Given the description of an element on the screen output the (x, y) to click on. 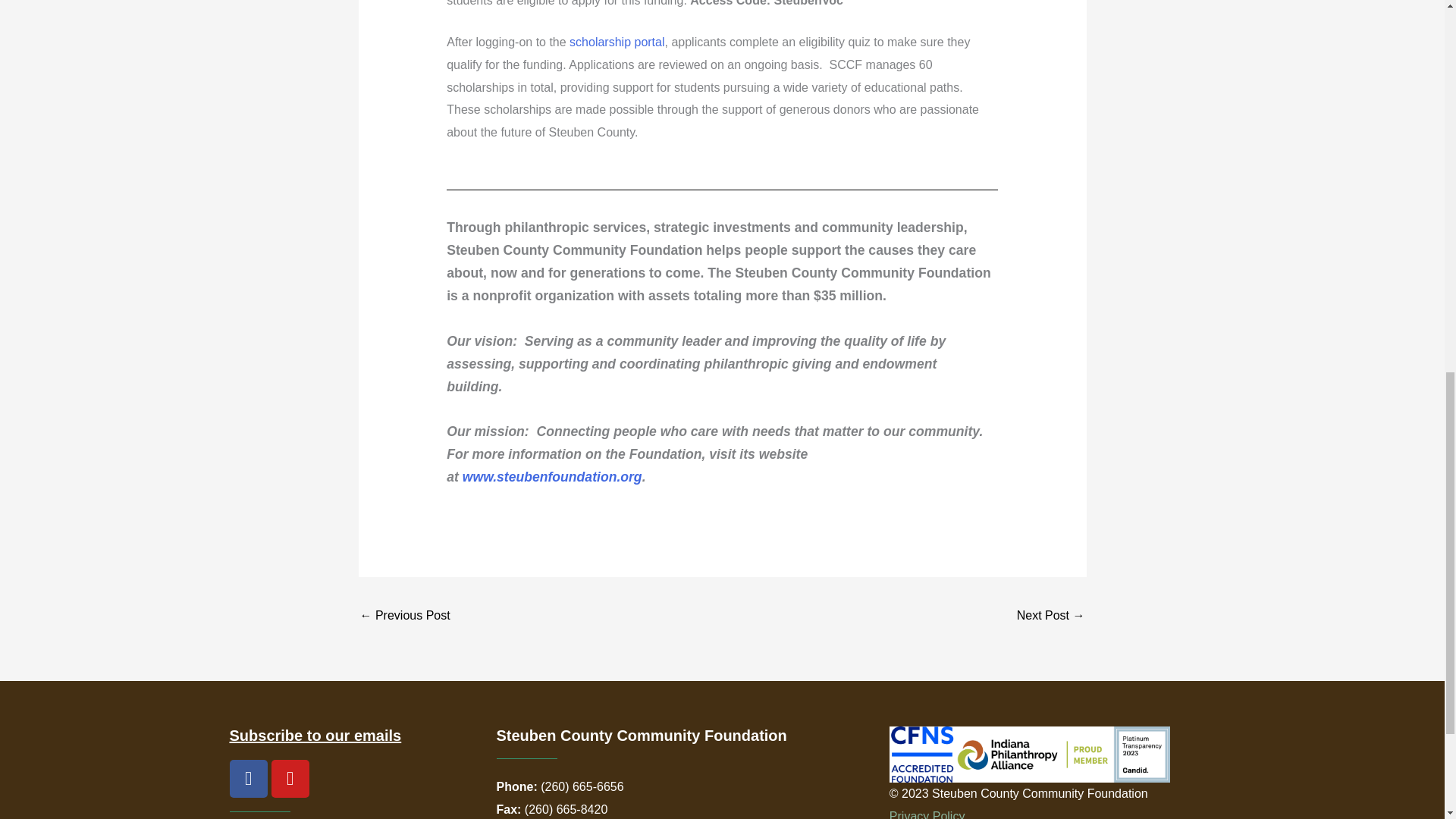
30th Anniversary Celebration Gift (404, 616)
